Given the description of an element on the screen output the (x, y) to click on. 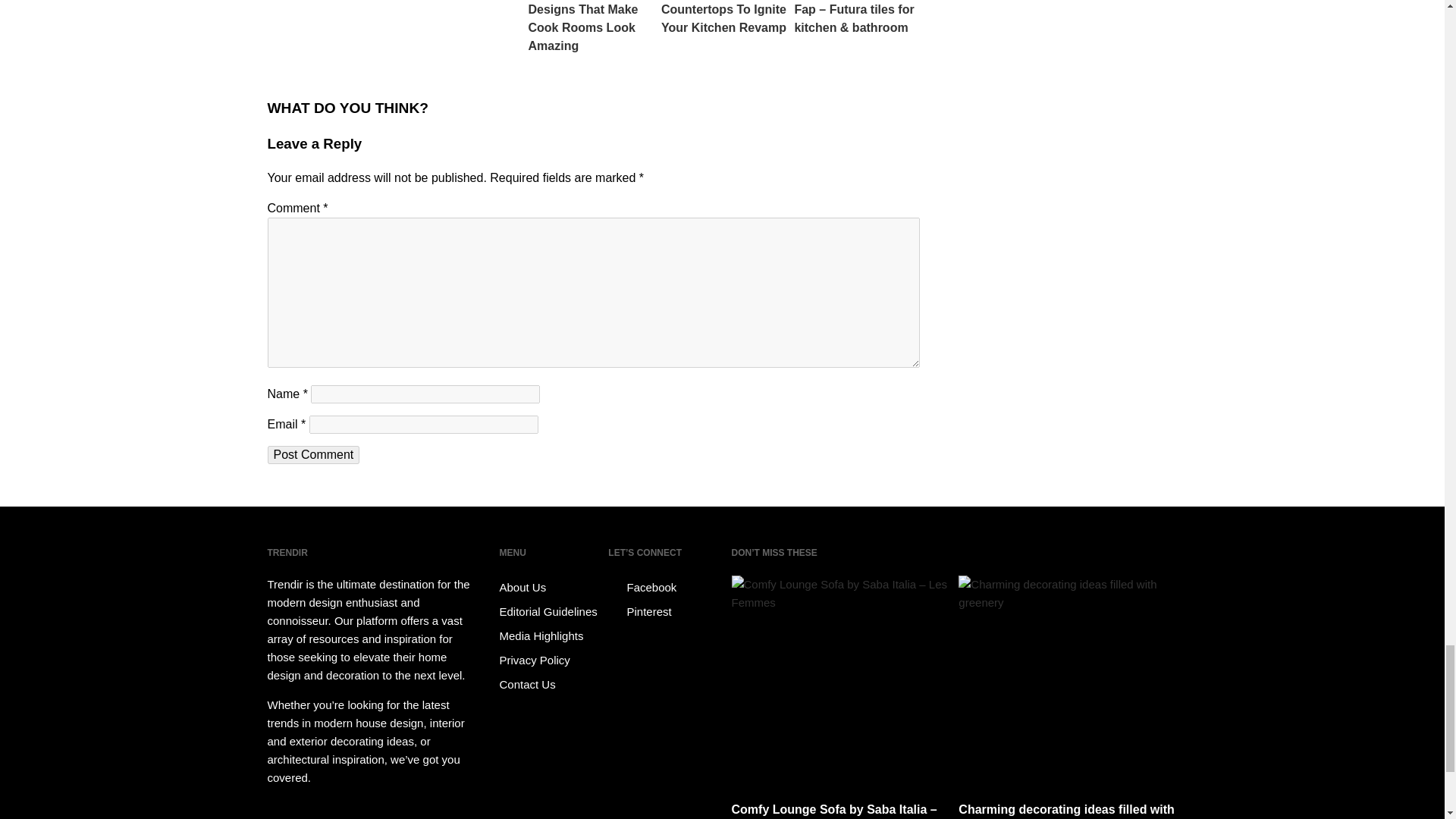
36 Marbled Countertops To Ignite Your Kitchen Revamp (723, 18)
About Us - Trendir (551, 587)
Media Highlights - Trendir (551, 636)
Post Comment (312, 454)
Kitchen Peninsula Designs That Make Cook Rooms Look Amazing (589, 27)
Kitchen Peninsula Designs That Make Cook Rooms Look Amazing (589, 27)
Trendir Editorial Guidelines (551, 611)
36 Marbled Countertops To Ignite Your Kitchen Revamp (723, 18)
